Given the description of an element on the screen output the (x, y) to click on. 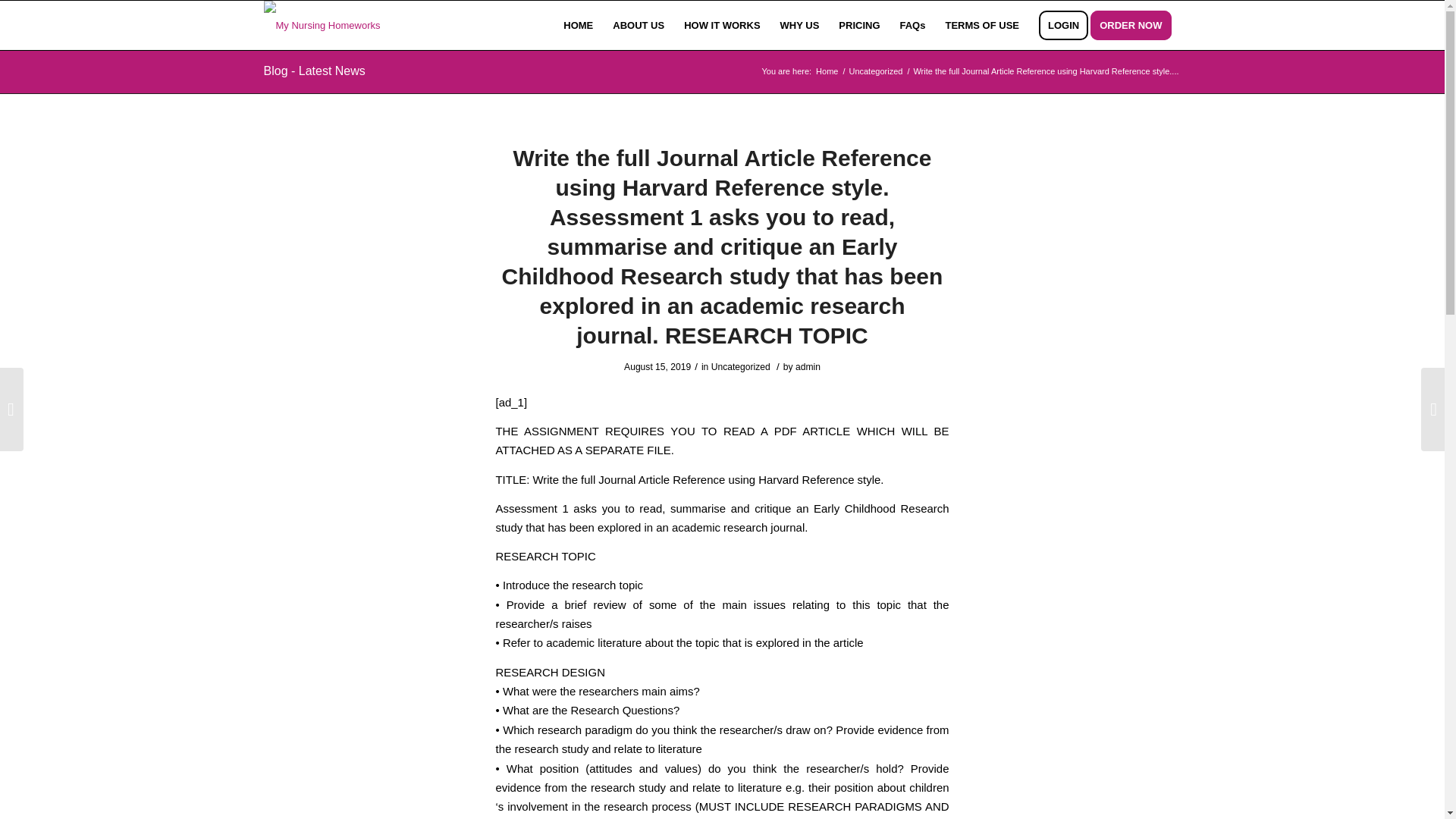
Uncategorized (740, 366)
Permanent Link: Blog - Latest News (314, 70)
TERMS OF USE (981, 24)
FAQs (912, 24)
PRICING (858, 24)
ABOUT US (638, 24)
ORDER NOW (1135, 24)
My Nursing Homeworks (826, 71)
HOW IT WORKS (722, 24)
